Given the description of an element on the screen output the (x, y) to click on. 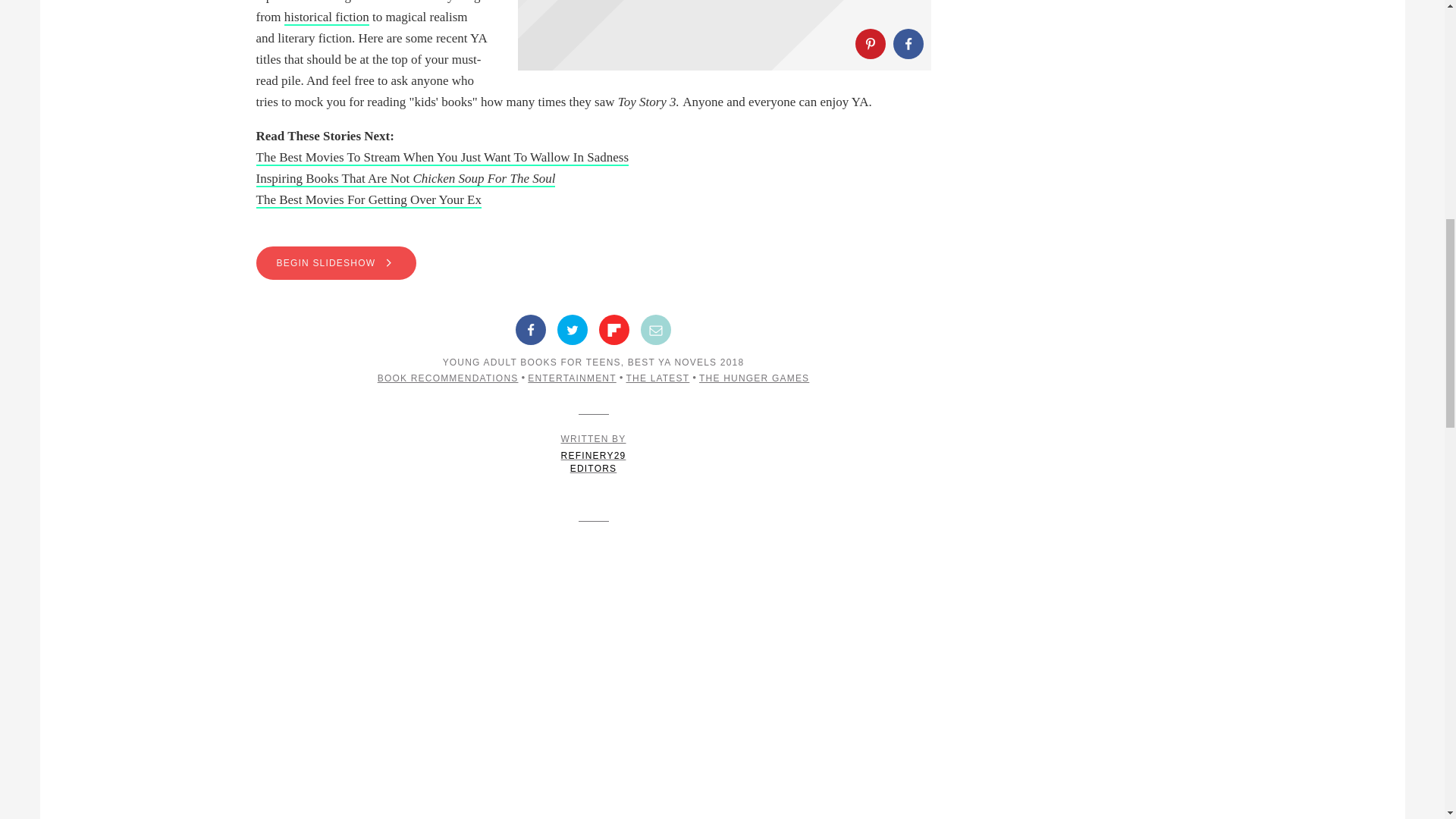
THE HUNGER GAMES (753, 378)
Share on Facebook (908, 43)
historical fiction (326, 17)
The Best Movies For Getting Over Your Ex (368, 200)
BEGIN SLIDESHOW (593, 263)
Share on Flipboard (613, 329)
Inspiring Books That Are Not Chicken Soup For The Soul (406, 179)
BOOK RECOMMENDATIONS (447, 378)
Share on Twitter (572, 329)
THE LATEST (658, 378)
BEGIN SLIDESHOW (336, 263)
Share by Email (655, 329)
ENTERTAINMENT (571, 378)
Share on Facebook (530, 329)
